Given the description of an element on the screen output the (x, y) to click on. 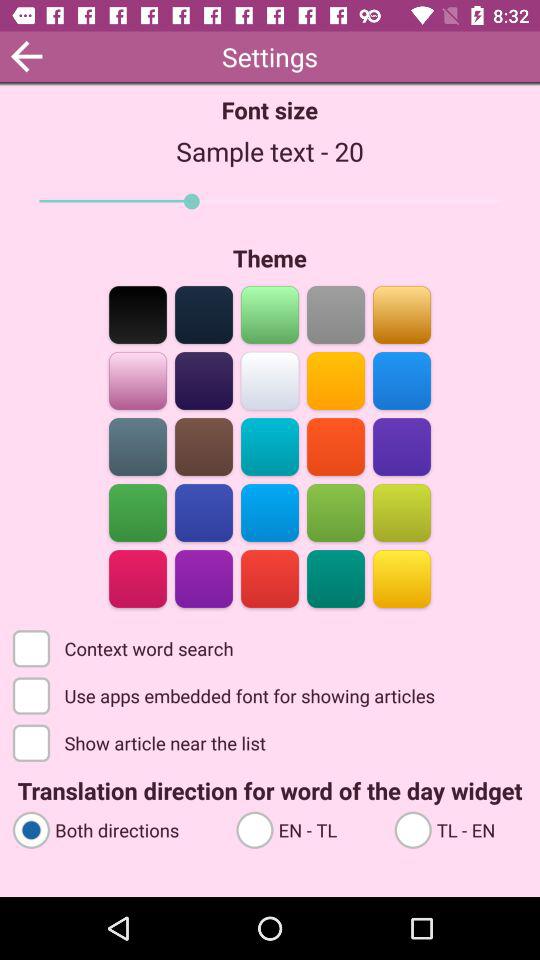
theme option (269, 577)
